Given the description of an element on the screen output the (x, y) to click on. 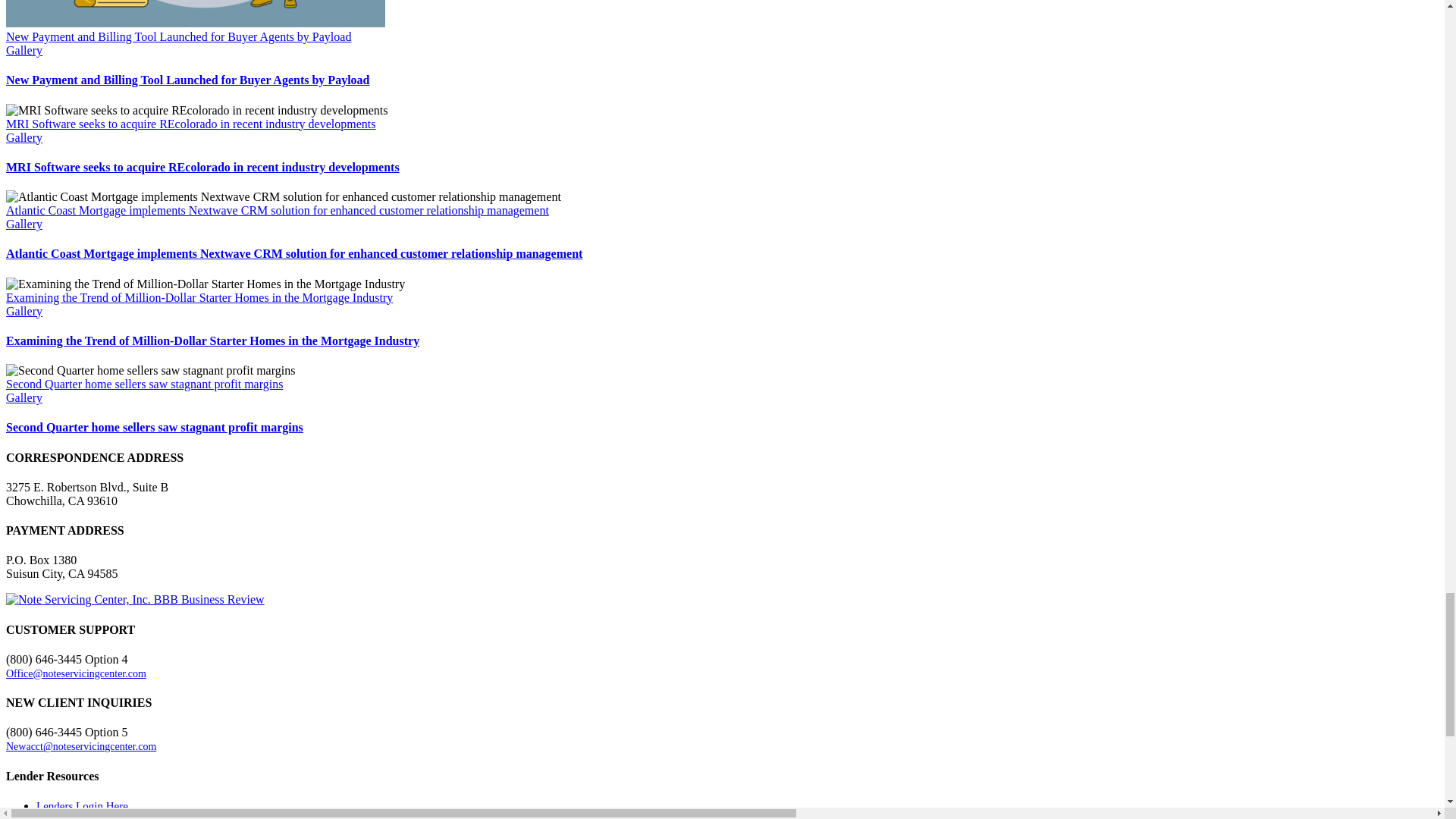
Gallery (23, 136)
Gallery (23, 50)
Gallery (23, 223)
